Given the description of an element on the screen output the (x, y) to click on. 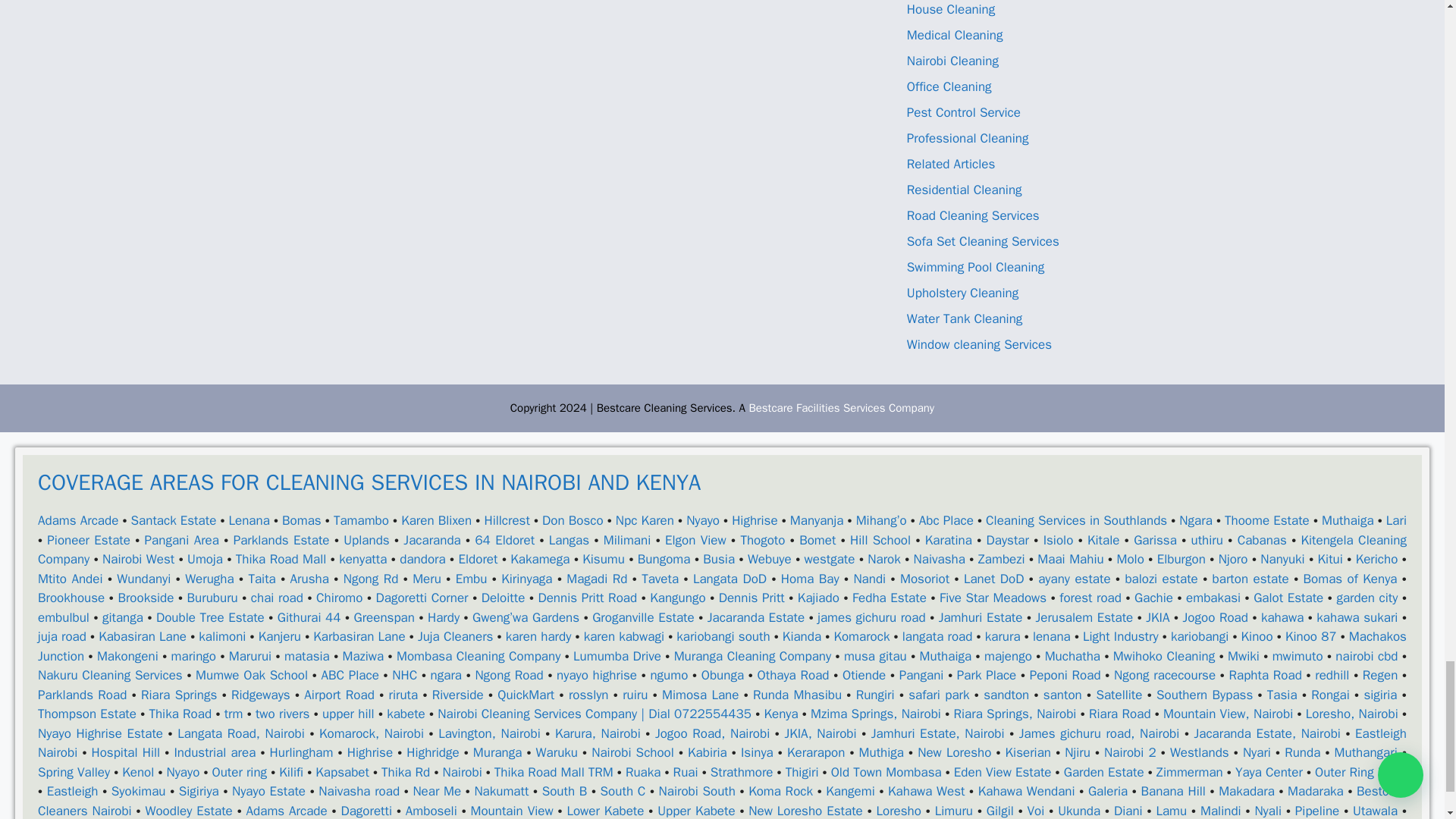
Lenana (248, 520)
Bomas (301, 520)
Tamambo (360, 520)
Cleaning Services in Nairobi (841, 407)
Karen Blixen (436, 520)
Santack Estate (173, 520)
Don Bosco (572, 520)
Adams Arcade (77, 520)
Hillcrest (506, 520)
Npc Karen (644, 520)
COVERAGE AREAS FOR CLEANING SERVICES IN NAIROBI AND KENYA (721, 499)
